Given the description of an element on the screen output the (x, y) to click on. 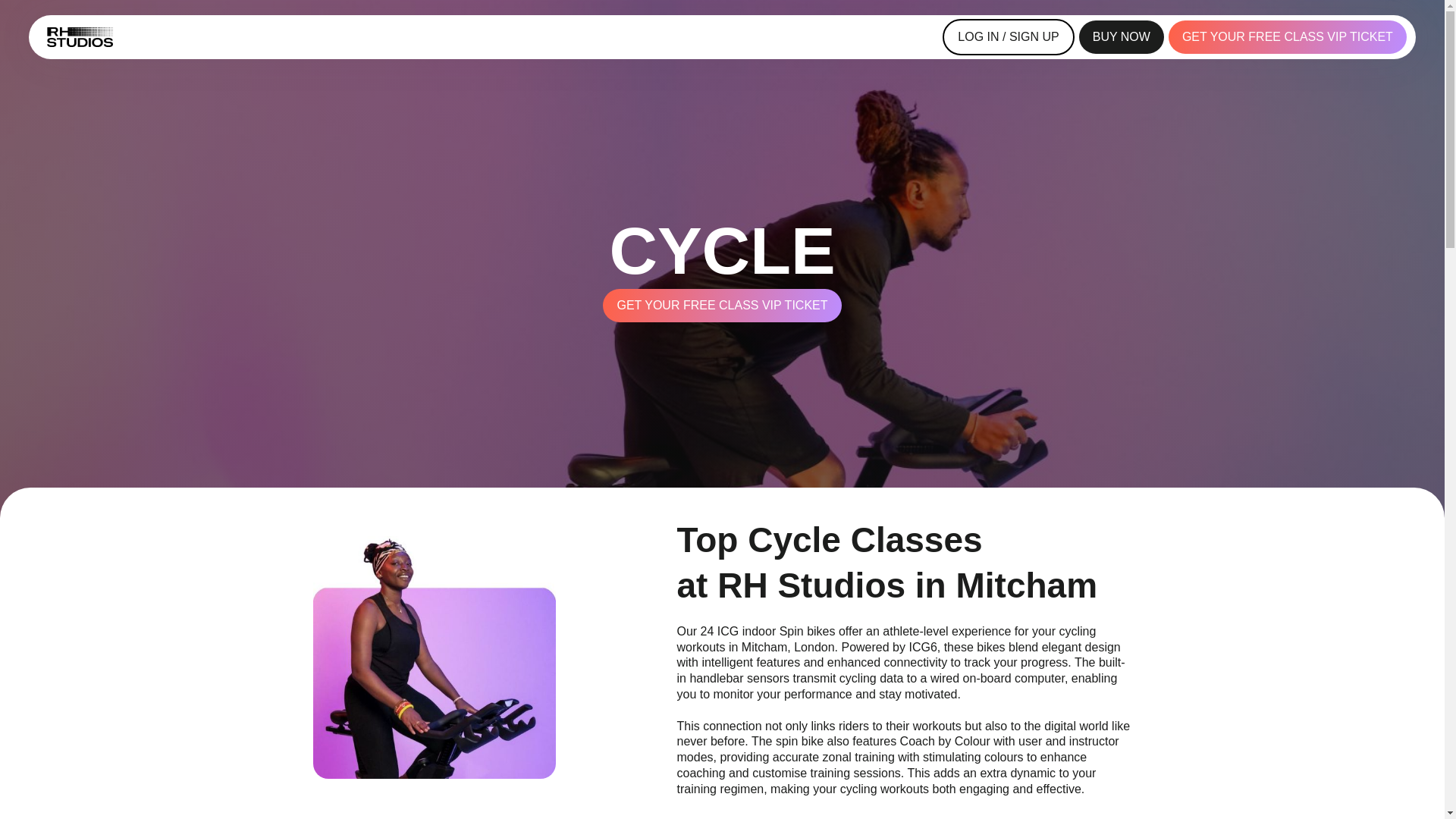
GET YOUR FREE CLASS VIP TICKET (1287, 37)
GET YOUR FREE CLASS VIP TICKET (721, 305)
BUY NOW (1120, 37)
